Given the description of an element on the screen output the (x, y) to click on. 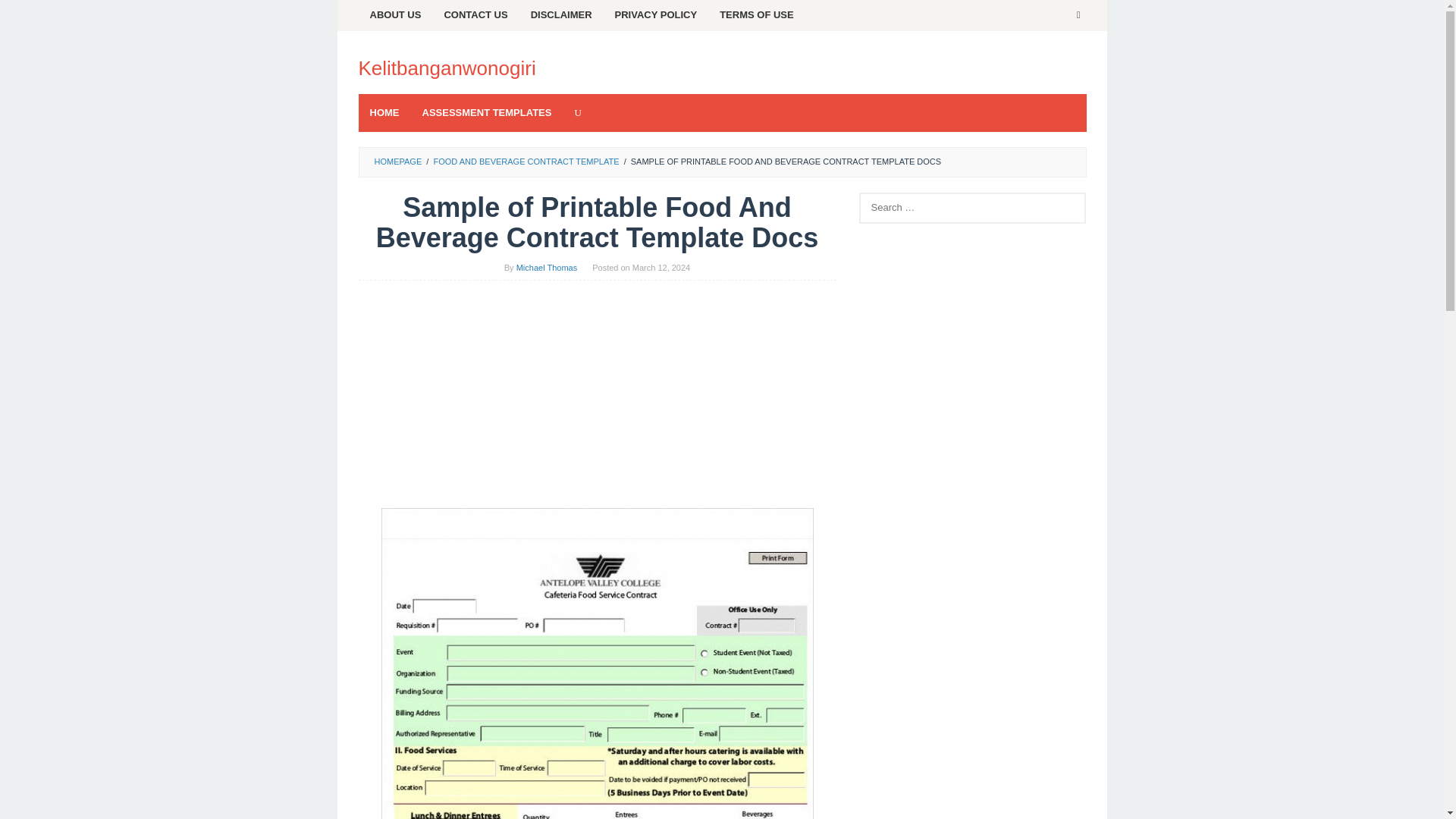
FOOD AND BEVERAGE CONTRACT TEMPLATE (525, 161)
HOME (384, 112)
TERMS OF USE (756, 15)
Kelitbanganwonogiri (446, 67)
DISCLAIMER (561, 15)
HOMEPAGE (398, 161)
Advertisement (972, 780)
CONTACT US (475, 15)
Search (27, 15)
Advertisement (596, 401)
PRIVACY POLICY (656, 15)
Michael Thomas (547, 266)
Permalink to: Michael Thomas (547, 266)
ABOUT US (395, 15)
